Given the description of an element on the screen output the (x, y) to click on. 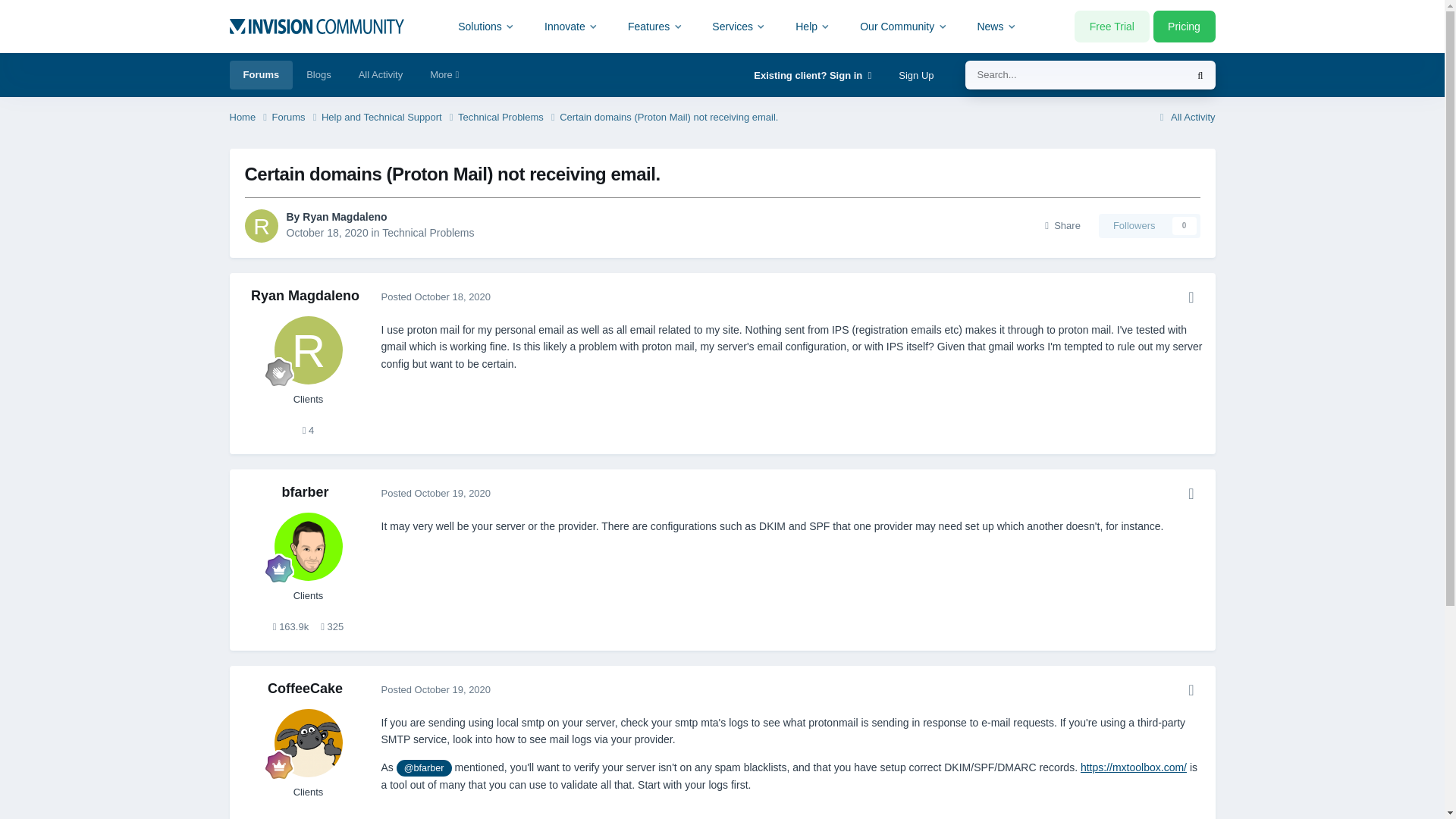
Solutions (486, 26)
Home (249, 117)
Features (654, 26)
Innovate (570, 26)
Services (738, 26)
Help (812, 26)
